Given the description of an element on the screen output the (x, y) to click on. 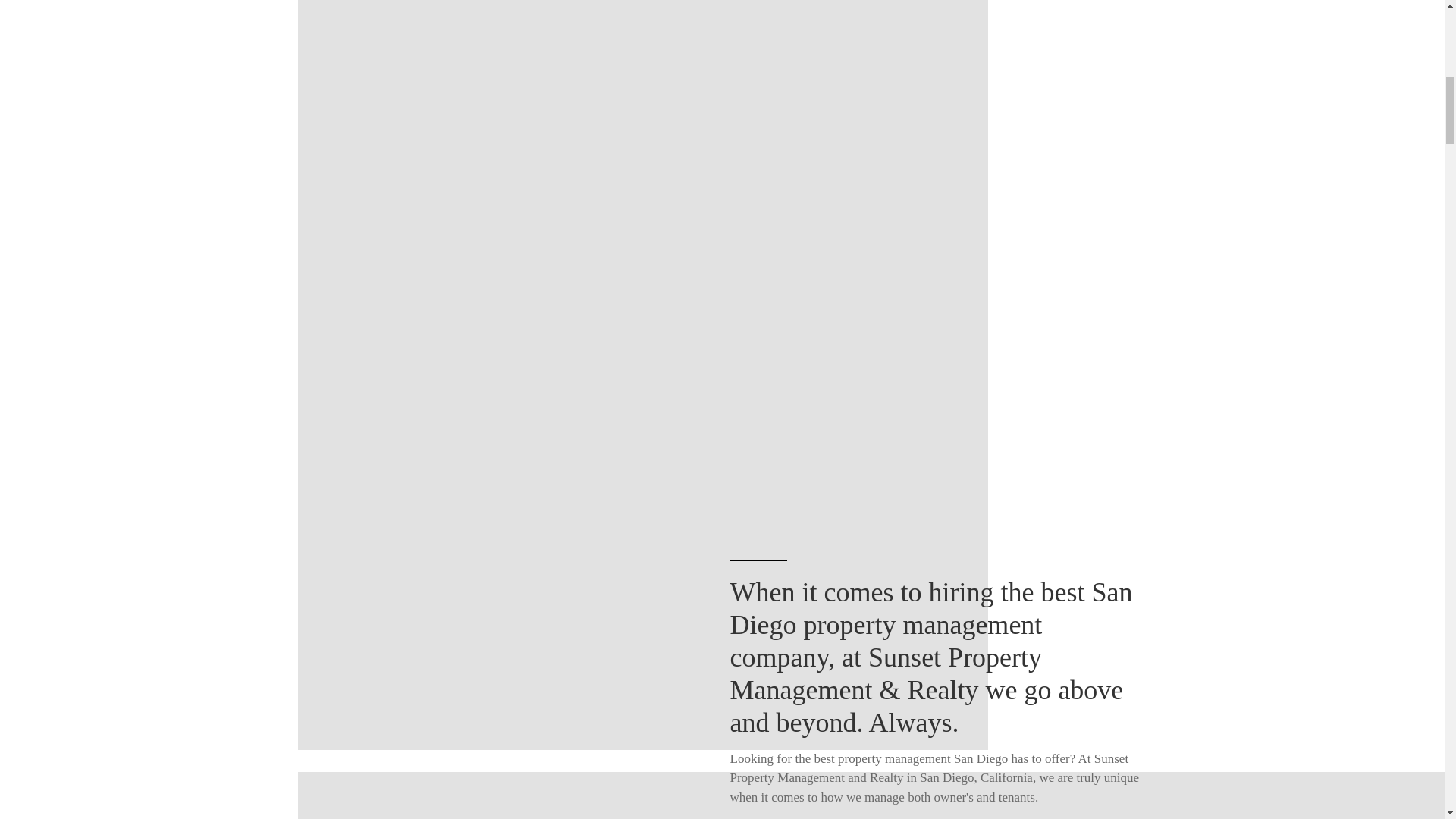
Leading Property Management San Diego Has To Offer (933, 508)
